Given the description of an element on the screen output the (x, y) to click on. 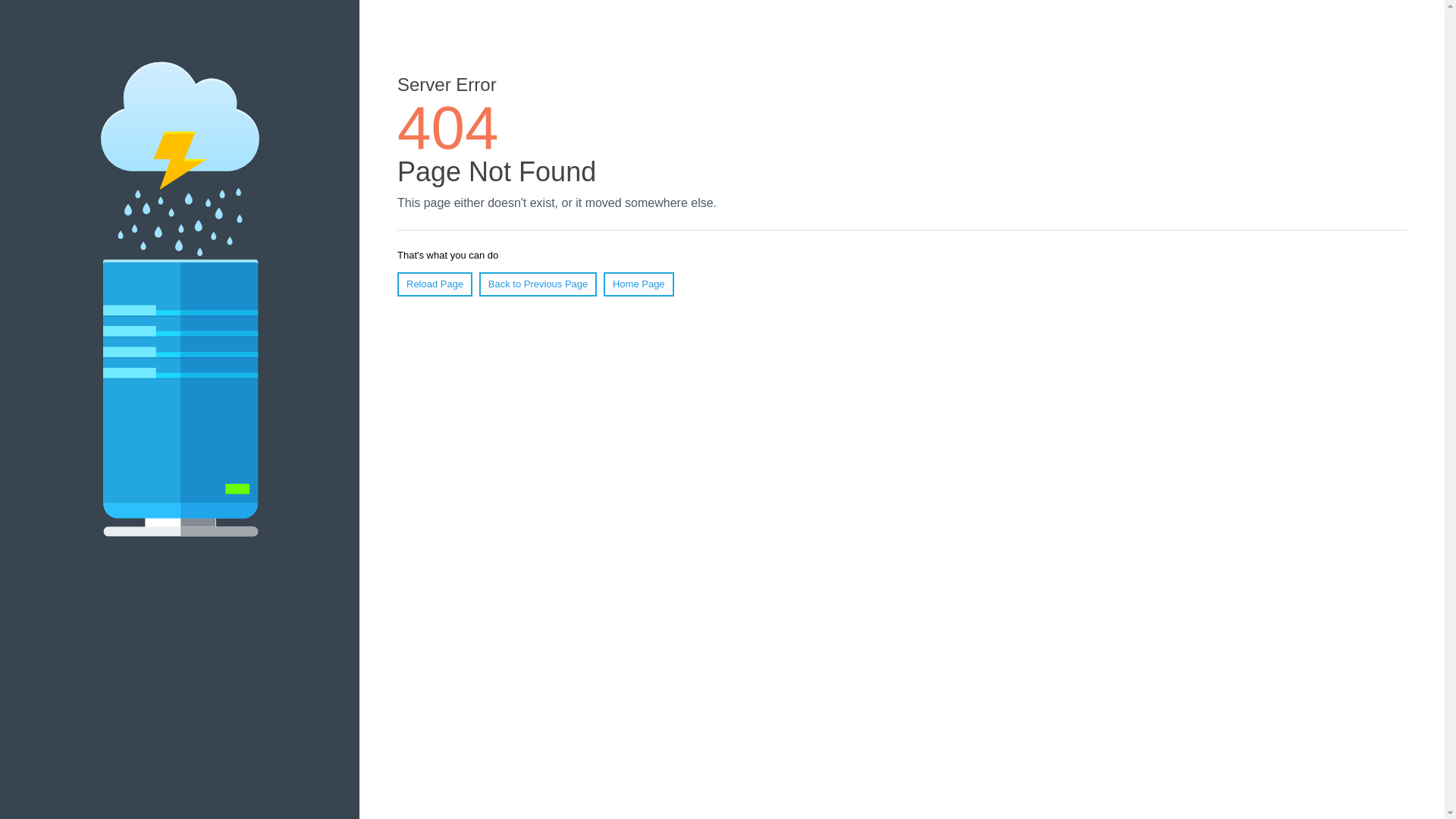
Reload Page Element type: text (434, 284)
Back to Previous Page Element type: text (538, 284)
Home Page Element type: text (638, 284)
